Given the description of an element on the screen output the (x, y) to click on. 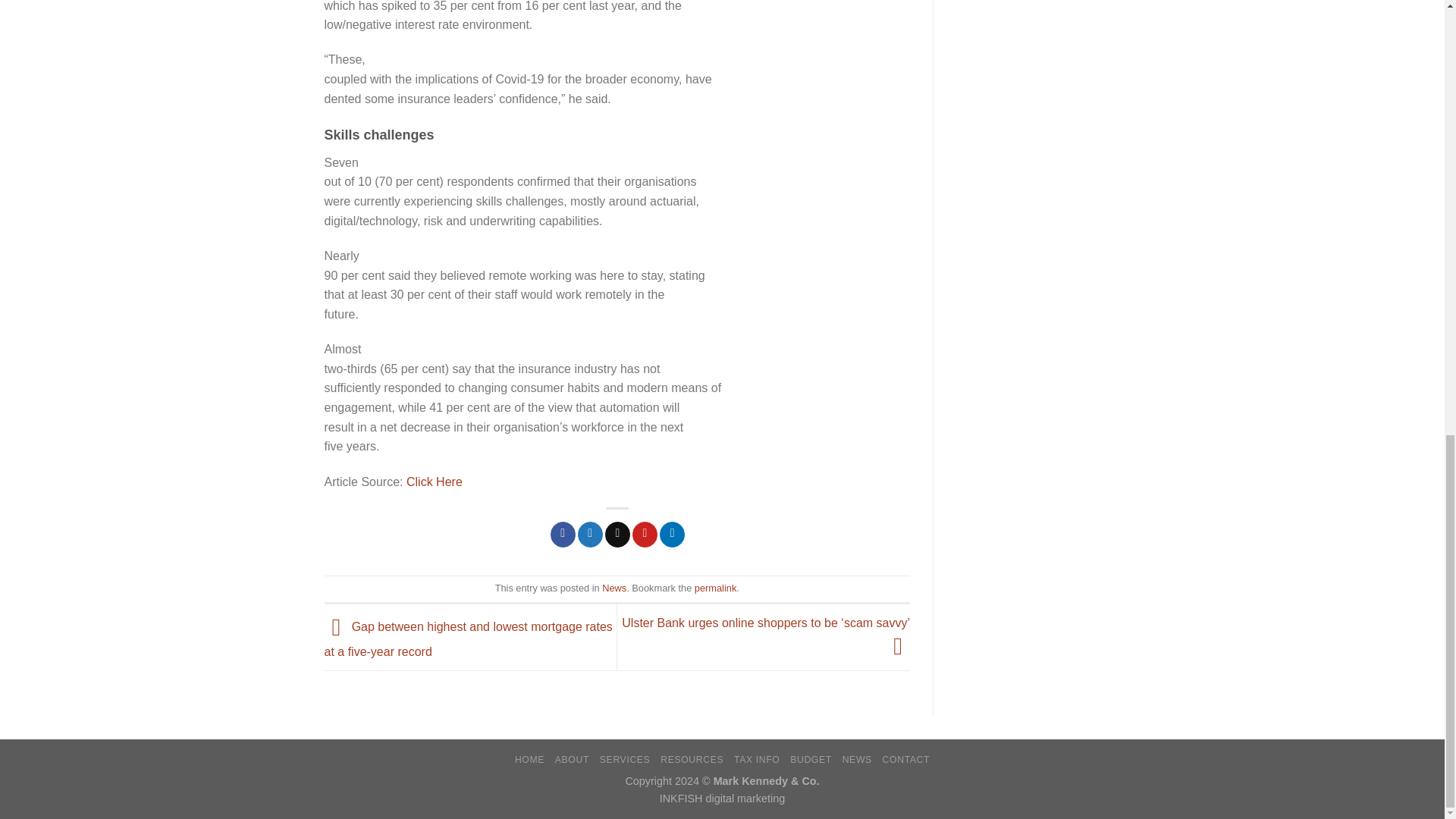
BUDGET (810, 759)
SERVICES (624, 759)
RESOURCES (692, 759)
ABOUT (571, 759)
Email to a Friend (617, 534)
INKFISH digital marketing (722, 798)
Share on LinkedIn (671, 534)
Share on Twitter (590, 534)
Click Here (434, 481)
Share on Facebook (562, 534)
CONTACT (906, 759)
HOME (529, 759)
Pin on Pinterest (644, 534)
